Given the description of an element on the screen output the (x, y) to click on. 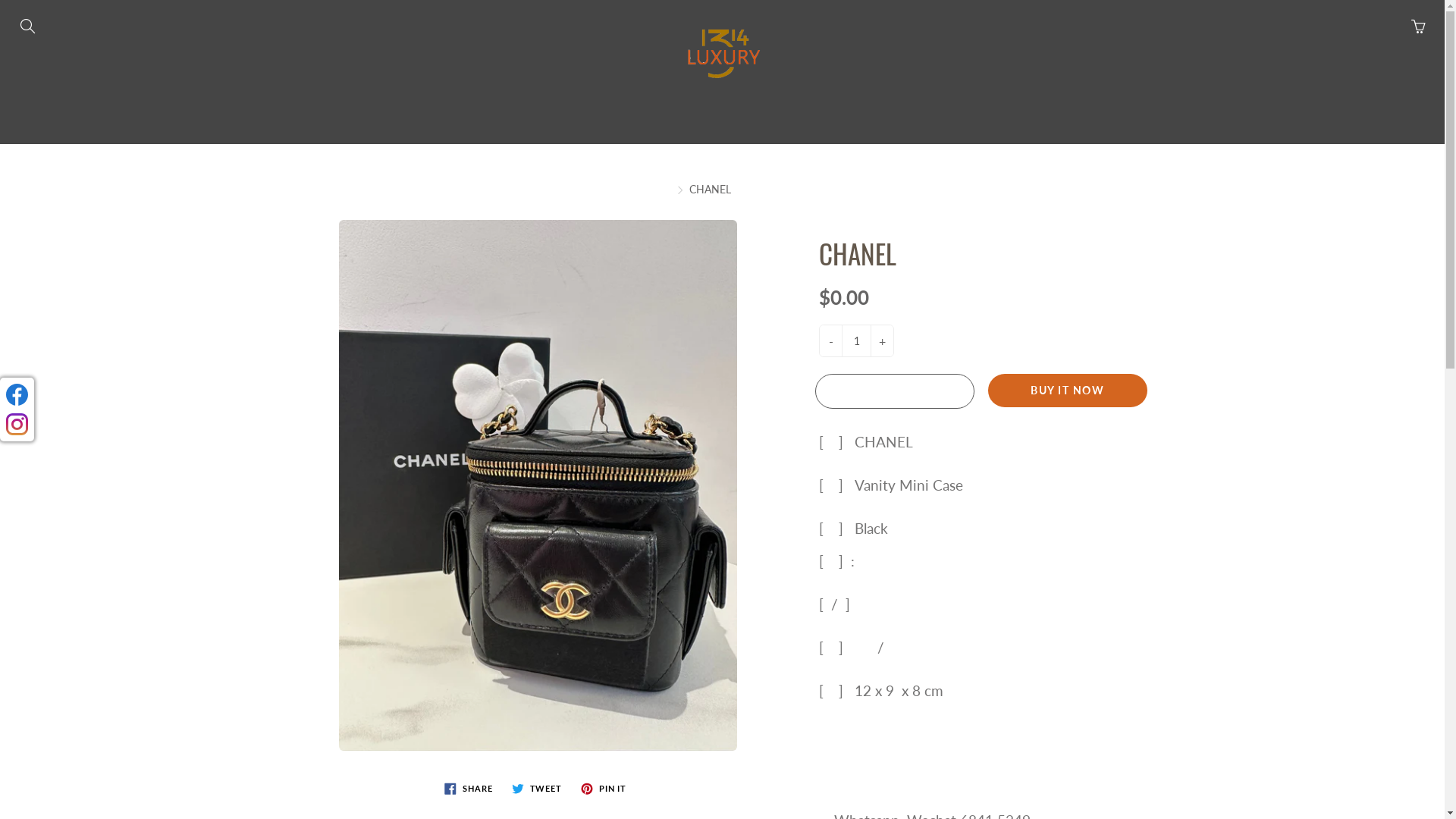
+ Element type: text (882, 340)
PIN IT Element type: text (603, 787)
BUY IT NOW Element type: text (1066, 390)
SHARE Element type: text (468, 787)
TWEET Element type: text (536, 787)
You have 0 items in your cart Element type: text (1417, 26)
- Element type: text (830, 340)
Search Element type: text (28, 26)
